Given the description of an element on the screen output the (x, y) to click on. 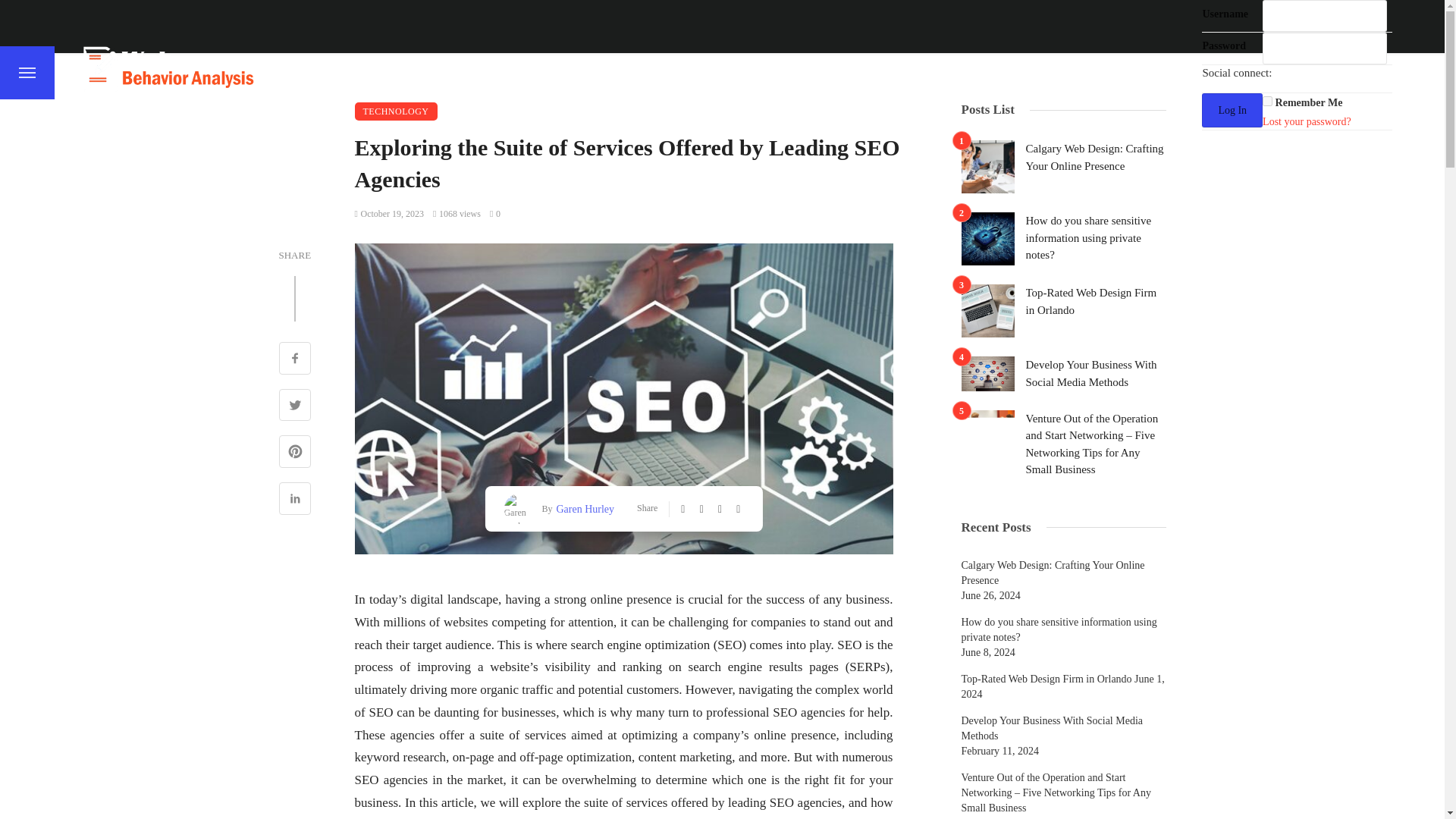
Password Lost and Found (1306, 121)
Log In (1232, 110)
Share on Pinterest (295, 452)
Log In (1232, 110)
TECHNOLOGY (936, 72)
October 19, 2023 at 7:03 am (390, 213)
SOCIAL MEDIA (726, 72)
WEB SERVICE (1049, 72)
Posts by Garen Hurley (582, 508)
forever (1267, 101)
